Given the description of an element on the screen output the (x, y) to click on. 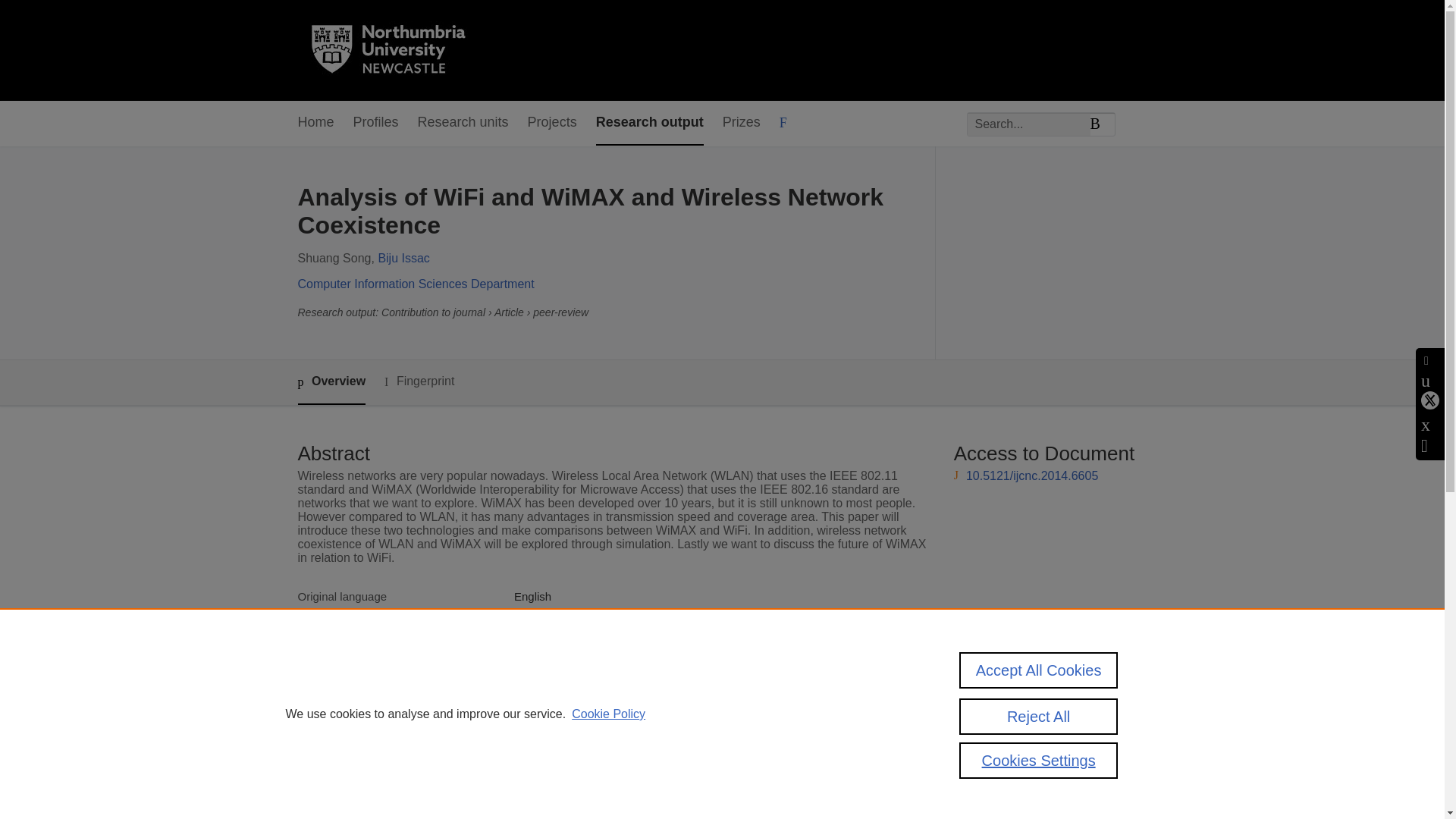
Profiles (375, 122)
Northumbria University Research Portal Home (398, 50)
Biju Issac (403, 257)
Research units (462, 122)
Projects (551, 122)
Fingerprint (419, 381)
Research output (649, 122)
Overview (331, 382)
Journal of Computer Networks and Communications (645, 631)
